Given the description of an element on the screen output the (x, y) to click on. 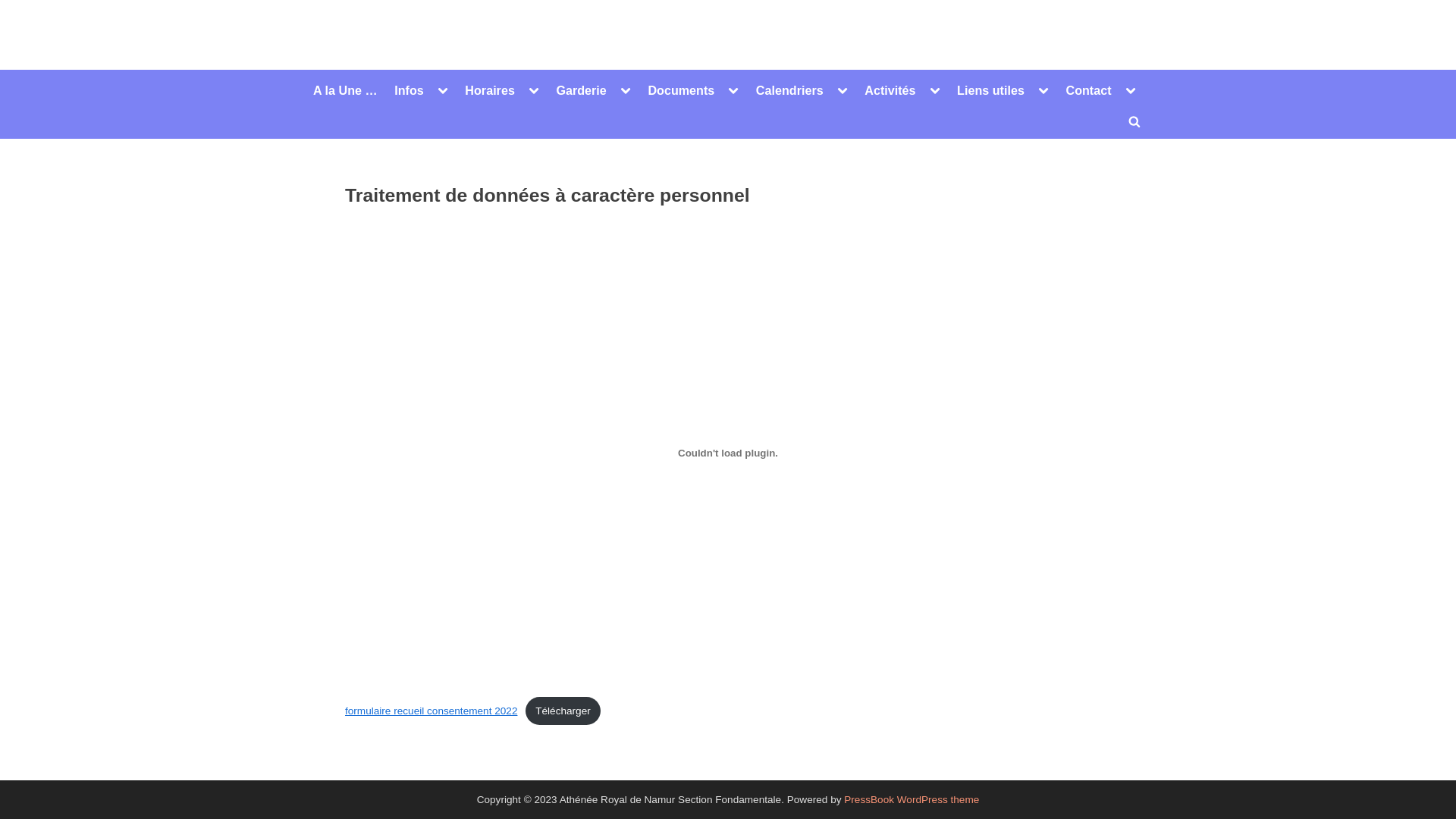
Toggle sub-menu Element type: text (442, 89)
Liens utiles Element type: text (990, 89)
Toggle sub-menu Element type: text (732, 89)
Toggle sub-menu Element type: text (533, 89)
Toggle sub-menu Element type: text (842, 89)
Infos Element type: text (408, 89)
Horaires Element type: text (489, 89)
formulaire recueil consentement 2022 Element type: text (431, 710)
Toggle search form Element type: text (1134, 121)
Toggle sub-menu Element type: text (625, 89)
Toggle sub-menu Element type: text (934, 89)
Calendriers Element type: text (789, 89)
Contact Element type: text (1088, 89)
Toggle sub-menu Element type: text (1043, 89)
Toggle sub-menu Element type: text (1130, 89)
Garderie Element type: text (580, 89)
PressBook WordPress theme Element type: text (911, 799)
Documents Element type: text (680, 89)
